Given the description of an element on the screen output the (x, y) to click on. 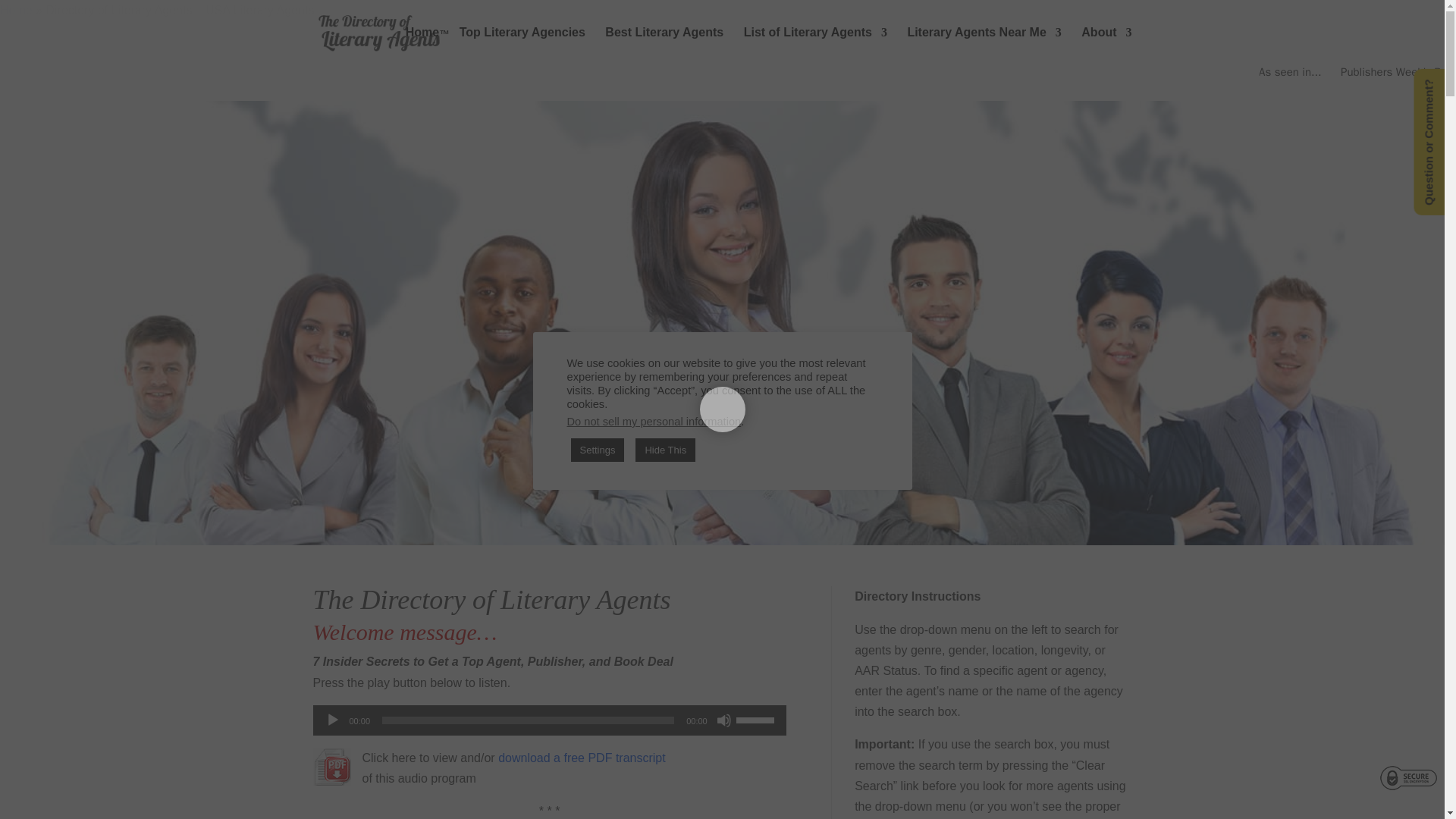
List of Literary Agents (815, 46)
Literary Agents Near Me (984, 46)
Play (331, 720)
About (1106, 46)
Top Literary Agencies (522, 46)
Mute (724, 720)
Best Literary Agents (664, 46)
